Given the description of an element on the screen output the (x, y) to click on. 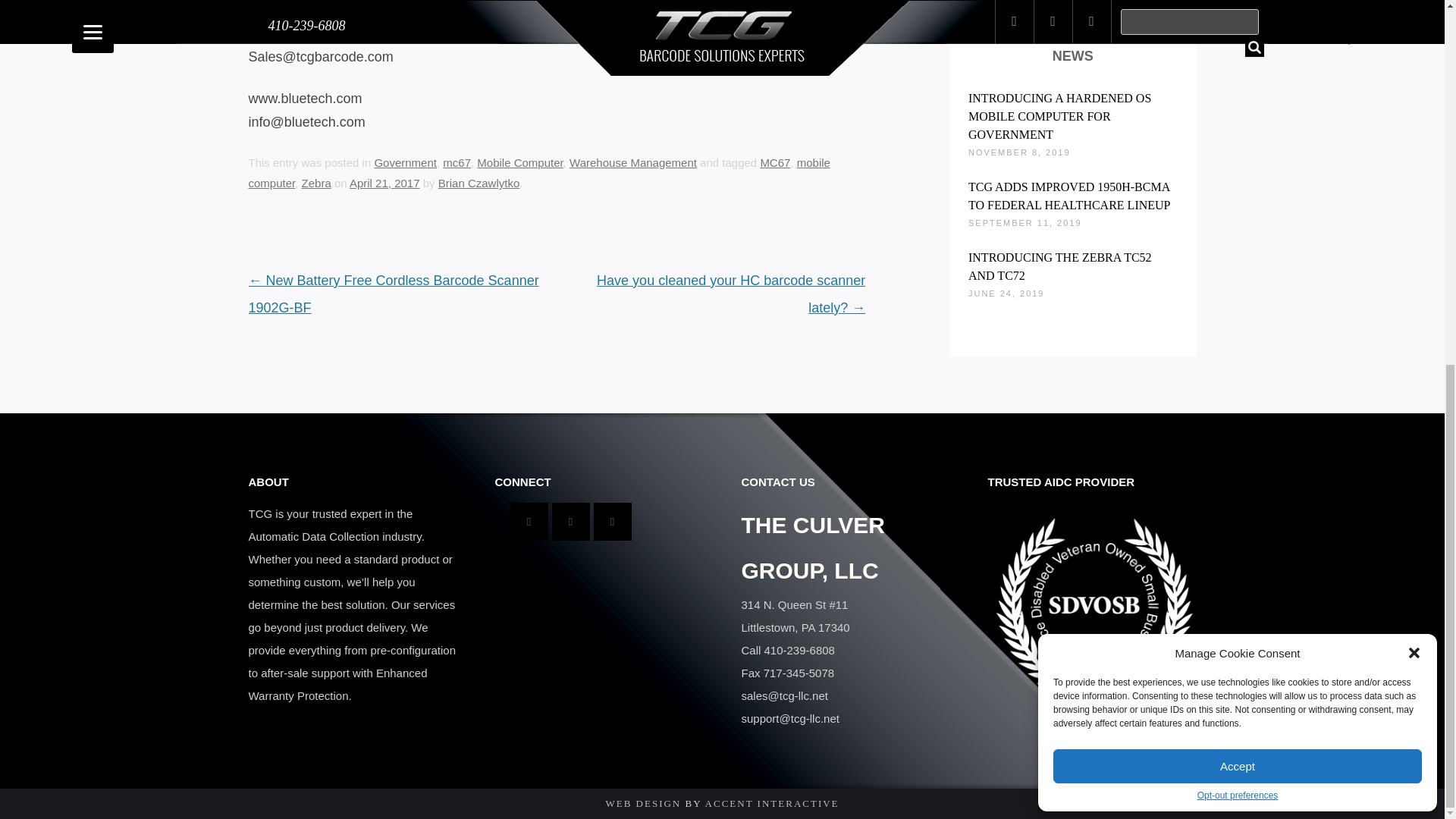
mc67 (456, 162)
Brian Czawlytko (478, 182)
Accept (1237, 113)
mobile computer (538, 173)
MANUFACTURING (1072, 2)
April 21, 2017 (384, 182)
MC67 (775, 162)
Mobile Computer (519, 162)
Opt-out preferences (1237, 142)
Warehouse Management (633, 162)
Zebra (316, 182)
11:43 am (384, 182)
Government (405, 162)
View all posts by Brian Czawlytko (478, 182)
